Given the description of an element on the screen output the (x, y) to click on. 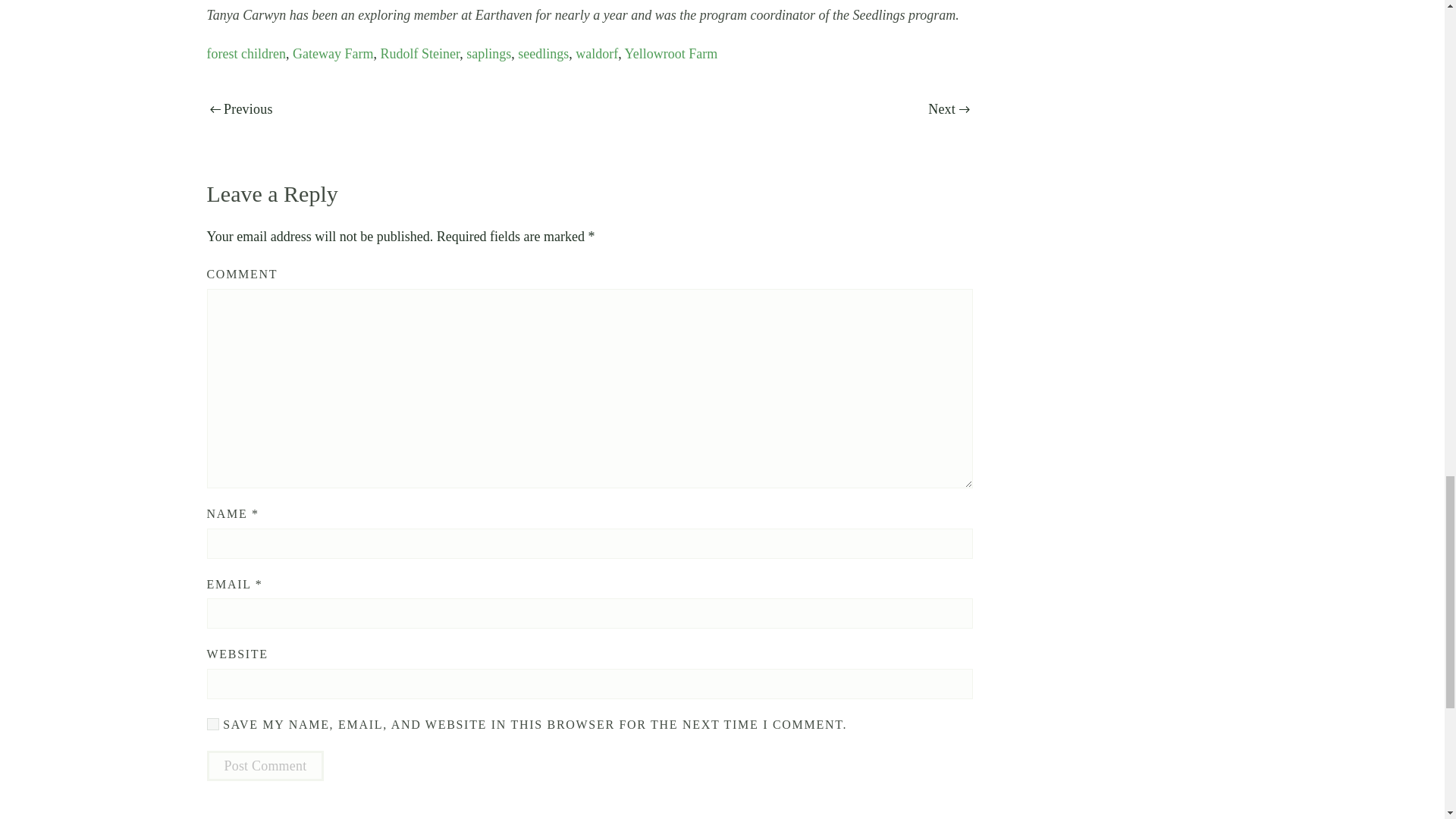
yes (212, 724)
